Given the description of an element on the screen output the (x, y) to click on. 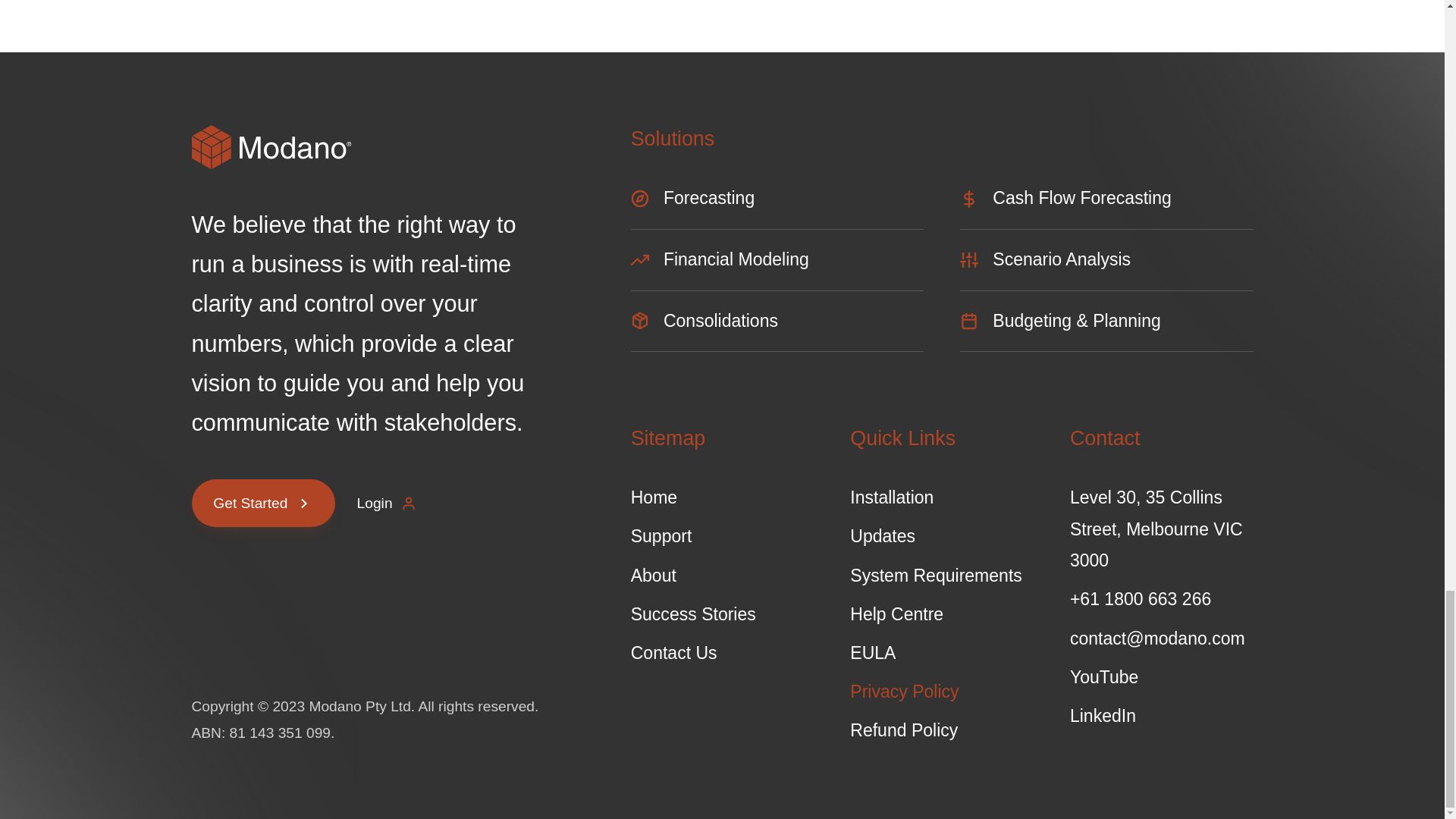
Get Started (262, 502)
Contact Us (721, 653)
Support (721, 536)
About (721, 575)
Forecasting (776, 206)
Consolidations (776, 328)
Financial Modeling (776, 267)
Home (721, 497)
Cash Flow Forecasting (1105, 206)
Scenario Analysis (1105, 267)
Success Stories (721, 613)
Login (387, 502)
